Given the description of an element on the screen output the (x, y) to click on. 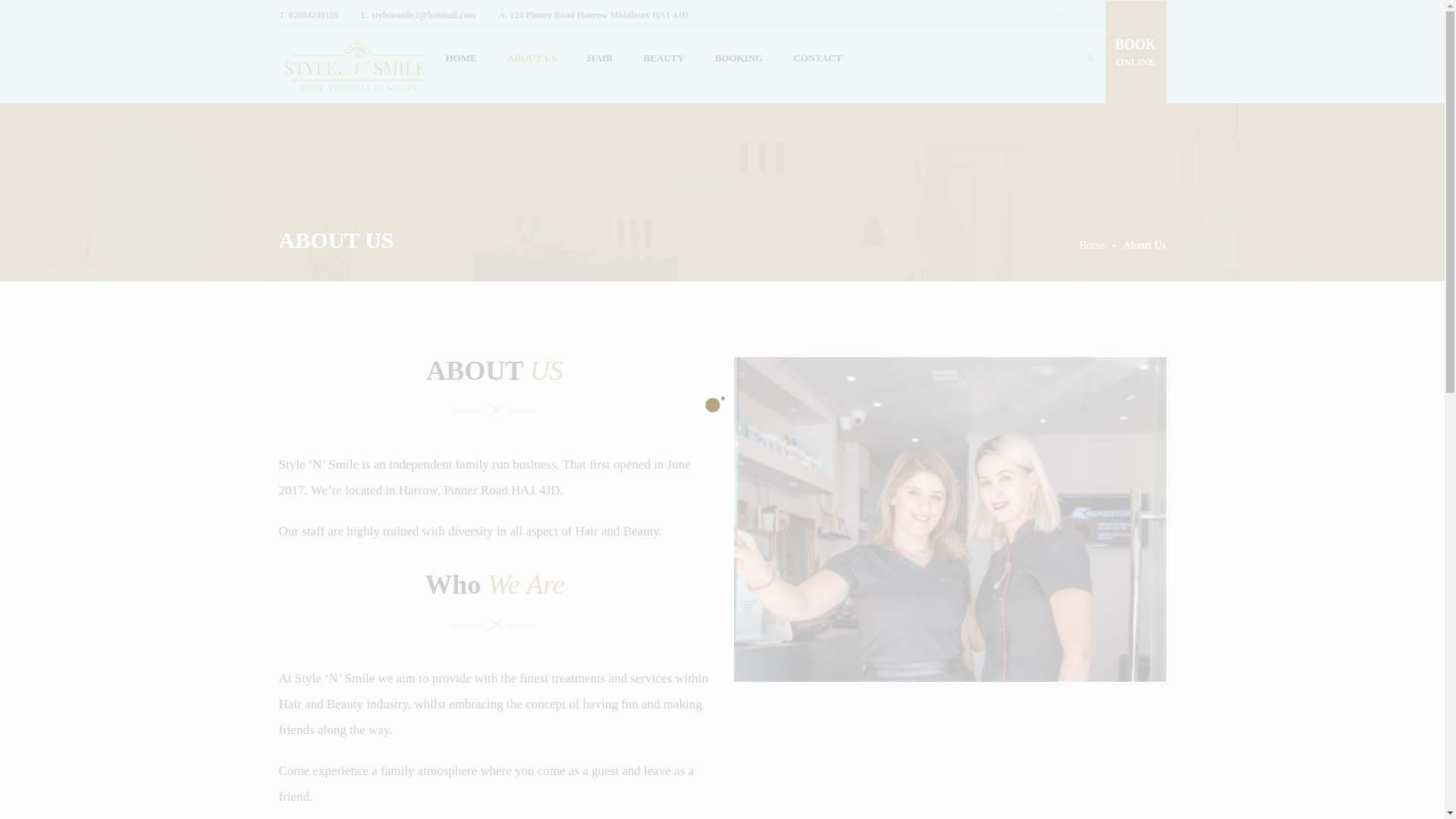
CONTACT (817, 57)
StylenSmile -  (354, 66)
Home (1100, 244)
HOME (461, 57)
About Us (1144, 244)
BEAUTY (662, 57)
Home (1100, 244)
BOOK ONLINE (1135, 53)
02084249119 (312, 14)
ABOUT US (532, 57)
